Given the description of an element on the screen output the (x, y) to click on. 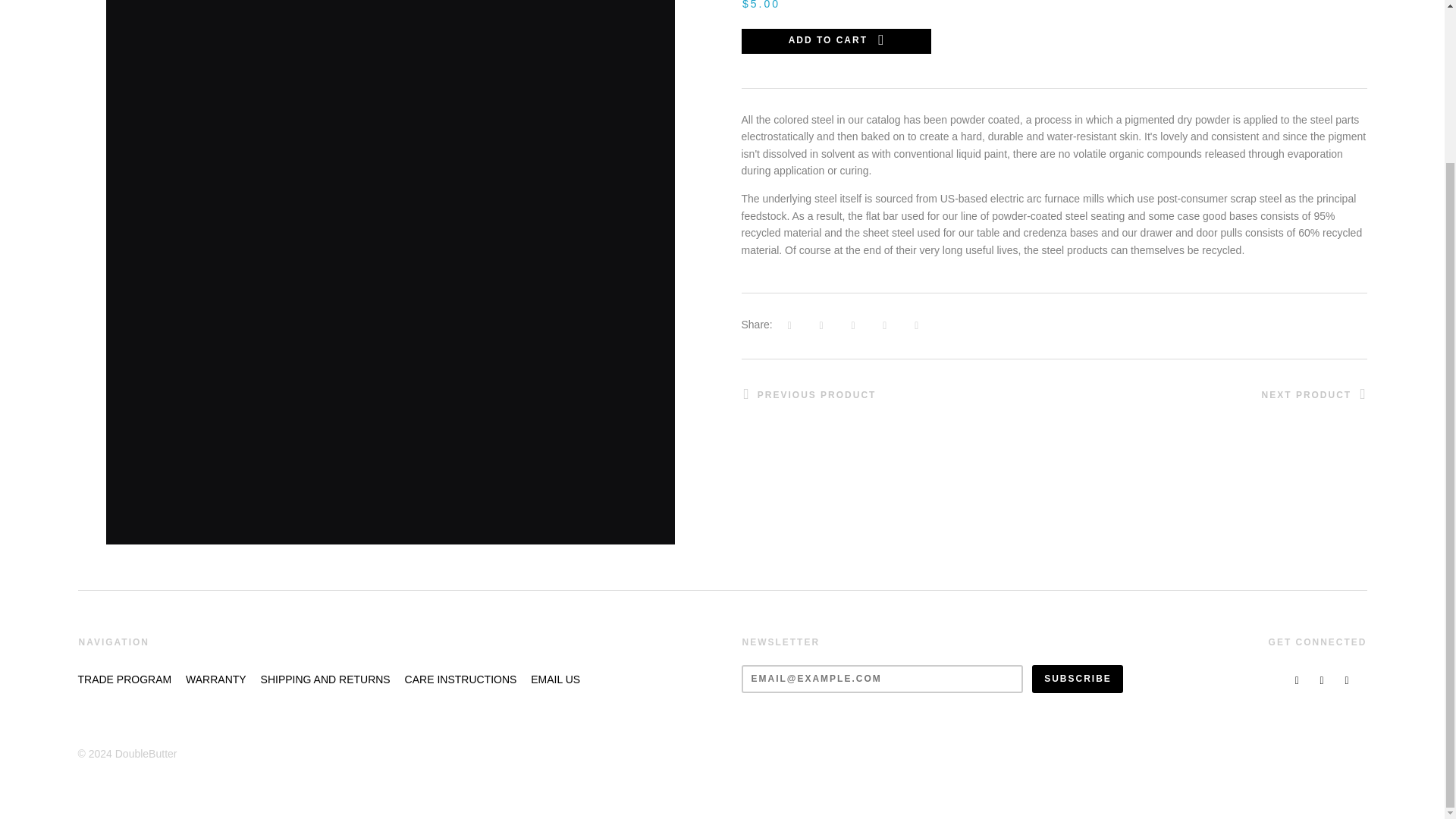
ADD TO CART (836, 41)
Subscribe (1077, 678)
